Given the description of an element on the screen output the (x, y) to click on. 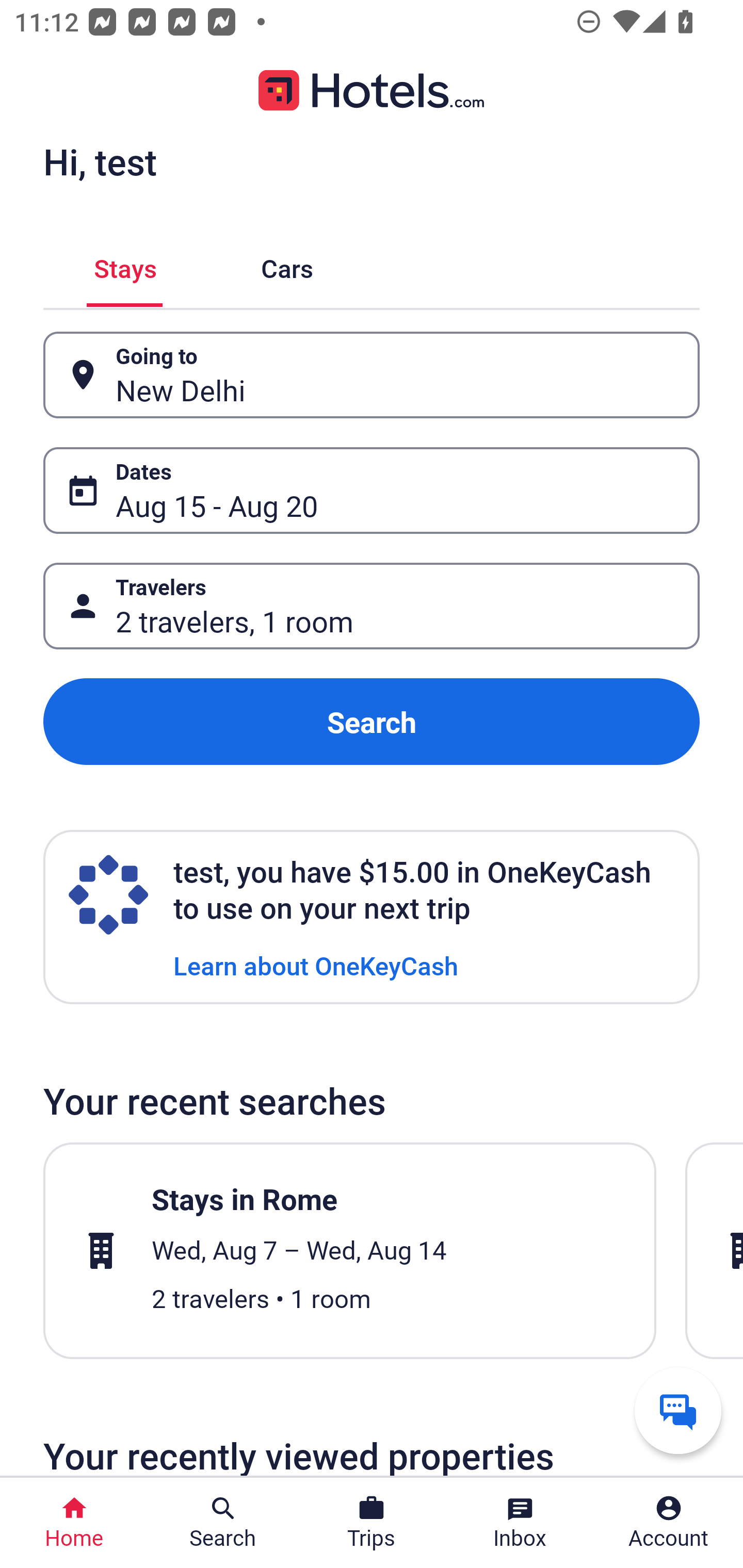
Hi, test (99, 161)
Cars (286, 265)
Going to Button New Delhi (371, 375)
Dates Button Aug 15 - Aug 20 (371, 489)
Travelers Button 2 travelers, 1 room (371, 605)
Search (371, 721)
Learn about OneKeyCash Learn about OneKeyCash Link (315, 964)
Get help from a virtual agent (677, 1410)
Search Search Button (222, 1522)
Trips Trips Button (371, 1522)
Inbox Inbox Button (519, 1522)
Account Profile. Button (668, 1522)
